Given the description of an element on the screen output the (x, y) to click on. 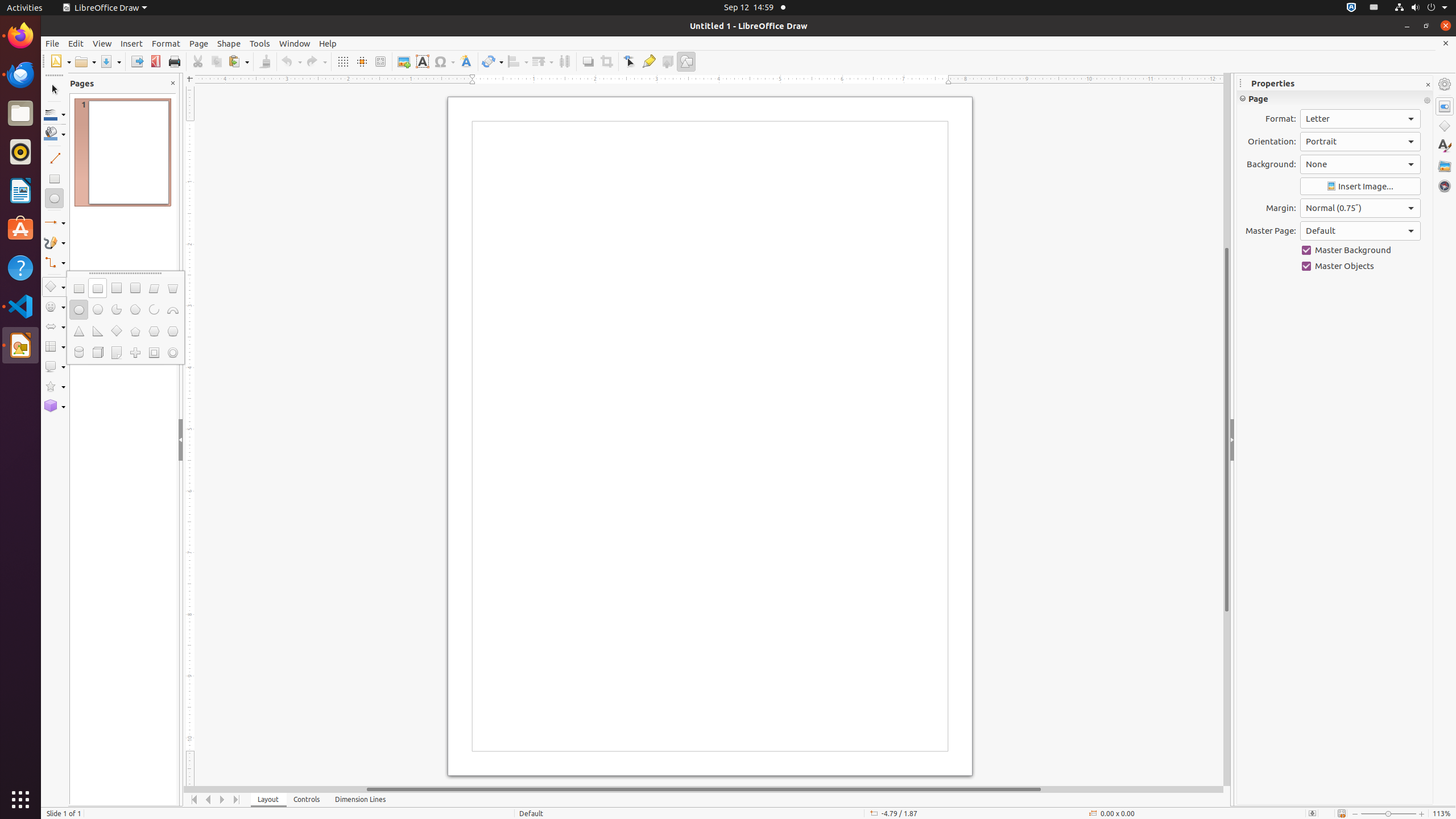
Close Sidebar Deck Element type: push-button (1427, 84)
Print Element type: push-button (173, 61)
Line Color Element type: push-button (54, 113)
Page Element type: menu (198, 43)
Window Element type: menu (294, 43)
